Given the description of an element on the screen output the (x, y) to click on. 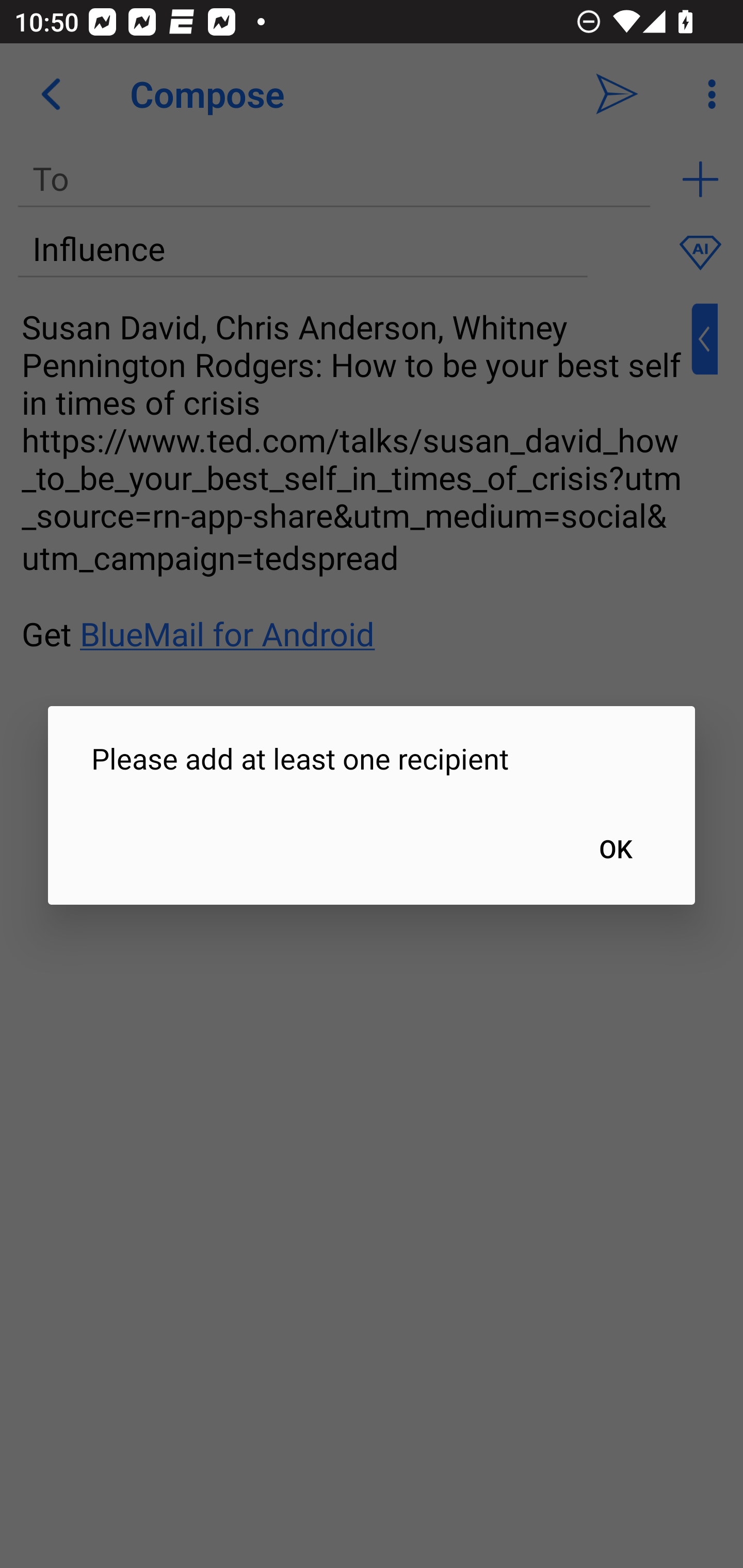
OK (615, 847)
